Given the description of an element on the screen output the (x, y) to click on. 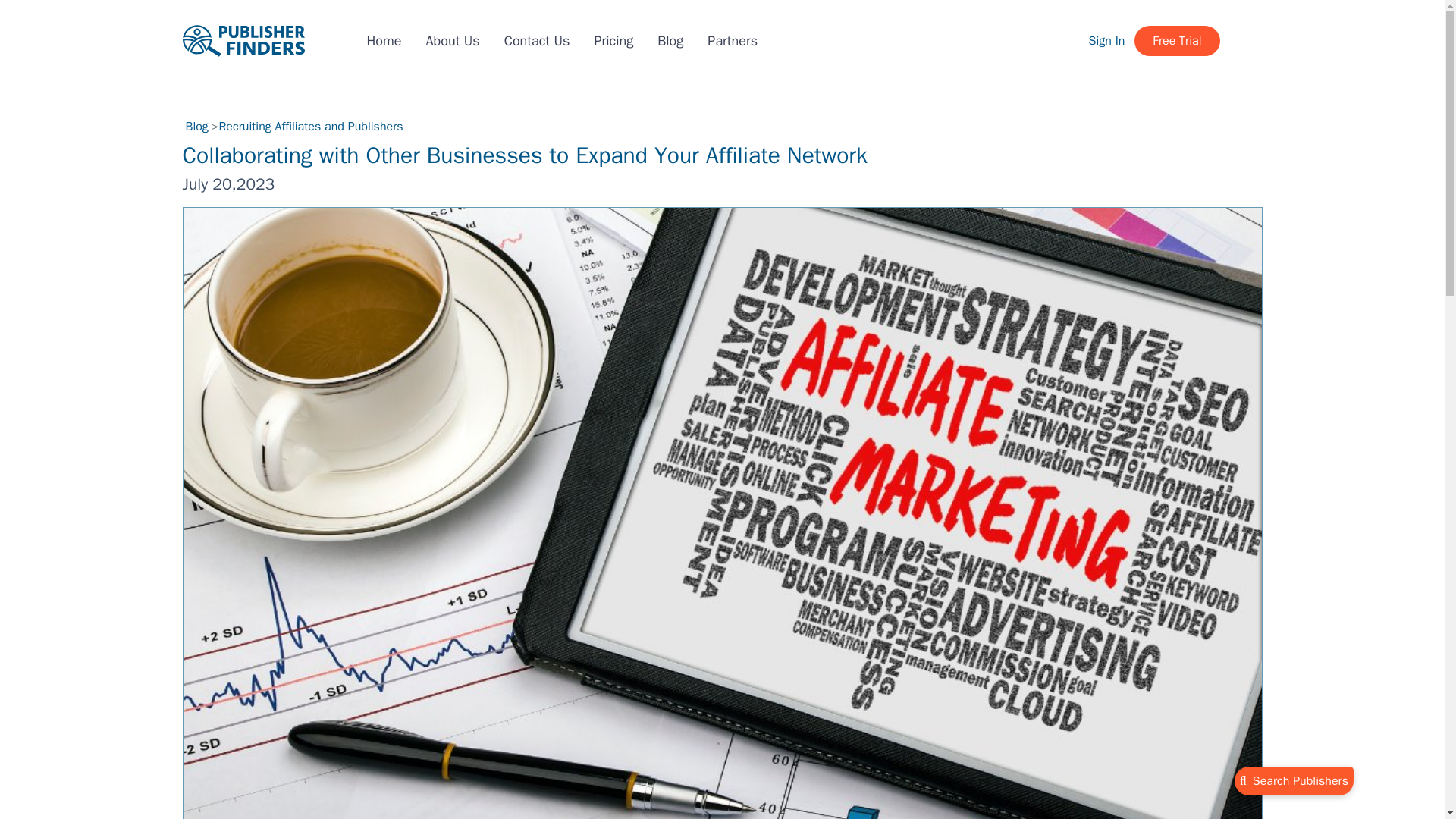
Free Trial (1177, 40)
Sign In (1107, 40)
Home (383, 39)
Contact Us (536, 39)
Pricing (613, 39)
Blog (670, 39)
Recruiting Affiliates and Publishers (310, 126)
Search Publishers (1294, 780)
Blog (196, 126)
About Us (453, 39)
